Given the description of an element on the screen output the (x, y) to click on. 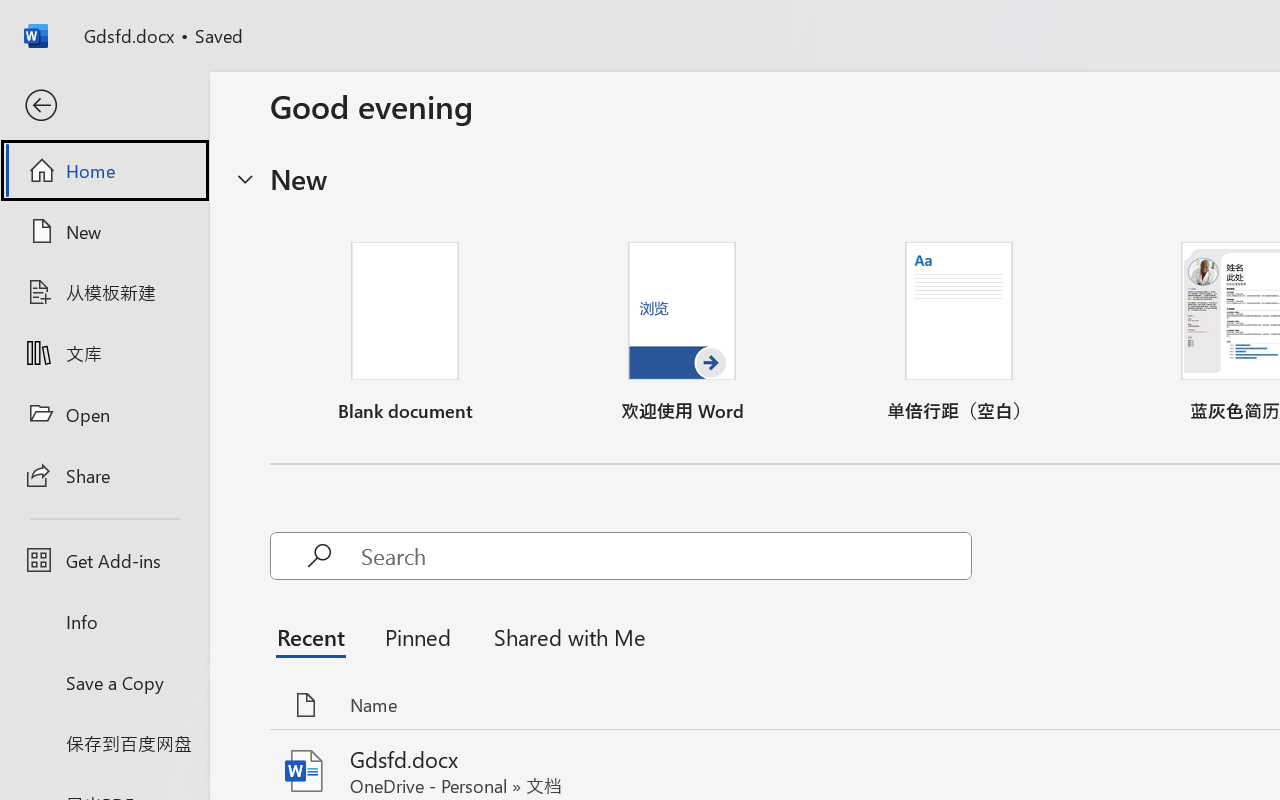
Close Master View (820, 114)
Preserve (148, 141)
Freeform 11 (941, 711)
Insert Placeholder (282, 114)
Themes (427, 114)
Insert Slide Master (38, 114)
Colors (504, 87)
Slide Number (948, 712)
Master Layout... (221, 114)
